Given the description of an element on the screen output the (x, y) to click on. 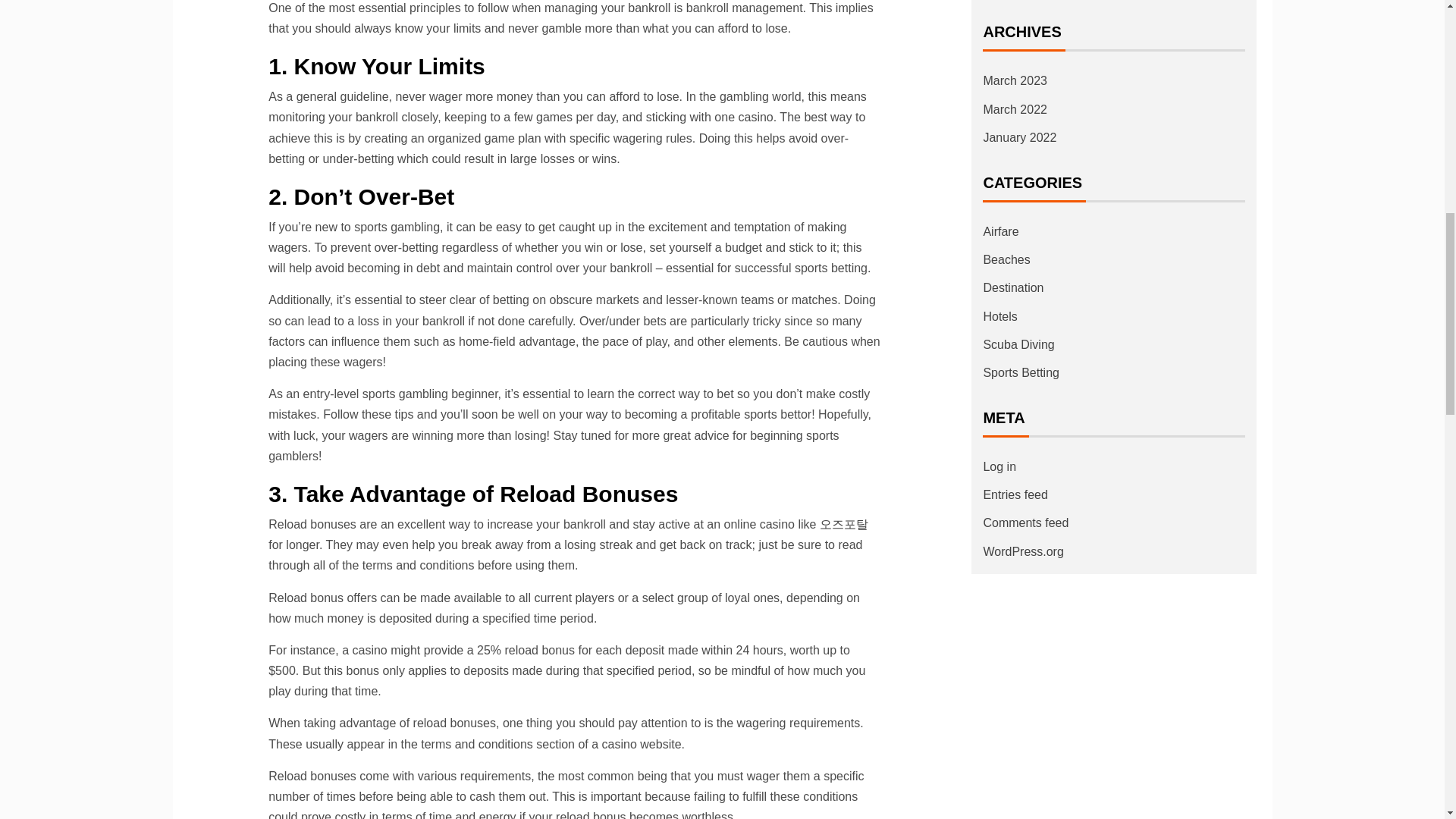
Airfare (999, 231)
Hotels (999, 316)
January 2022 (1019, 137)
March 2022 (1014, 109)
March 2023 (1014, 80)
Destination (1012, 287)
Beaches (1005, 259)
